Given the description of an element on the screen output the (x, y) to click on. 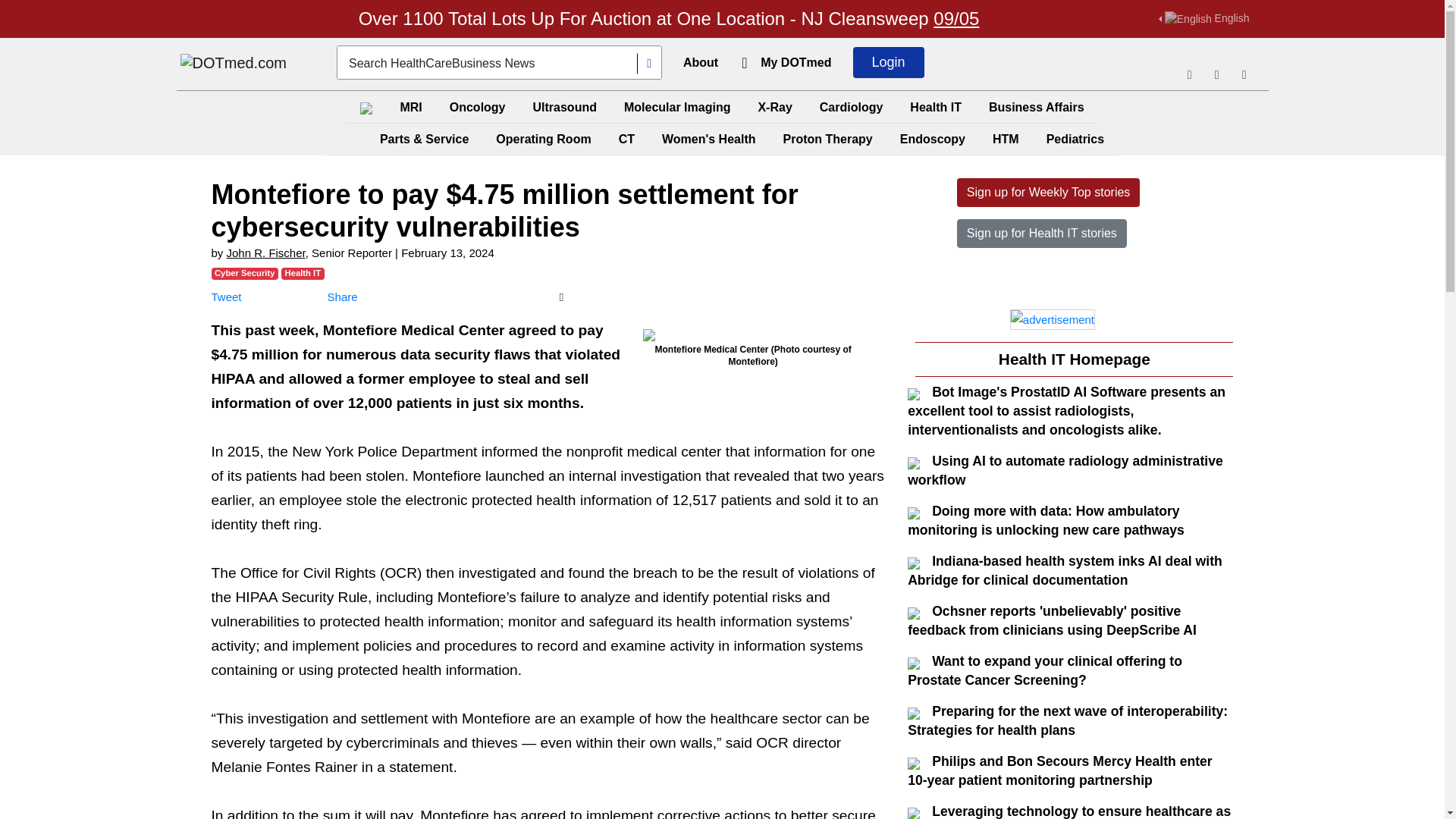
MRI (410, 106)
CT (626, 138)
Login (888, 61)
Molecular Imaging (676, 106)
Oncology (478, 106)
DOTmed News (233, 63)
My DOTmed (795, 61)
Health IT (936, 106)
More news from John R. Fischer (266, 252)
Operating Room (542, 138)
